Given the description of an element on the screen output the (x, y) to click on. 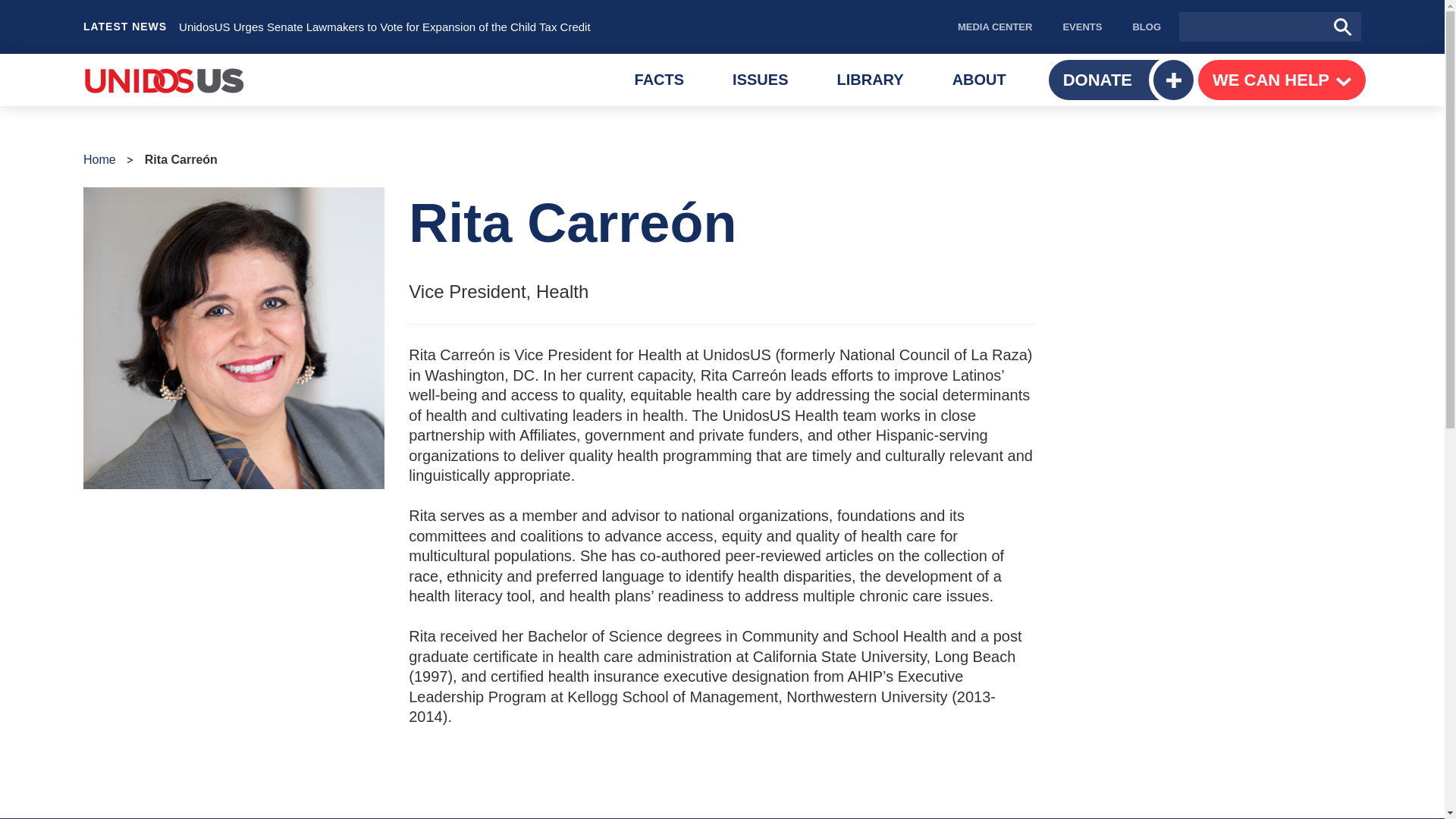
MEDIA CENTER (759, 80)
BLOG (994, 26)
EVENTS (1146, 26)
